Given the description of an element on the screen output the (x, y) to click on. 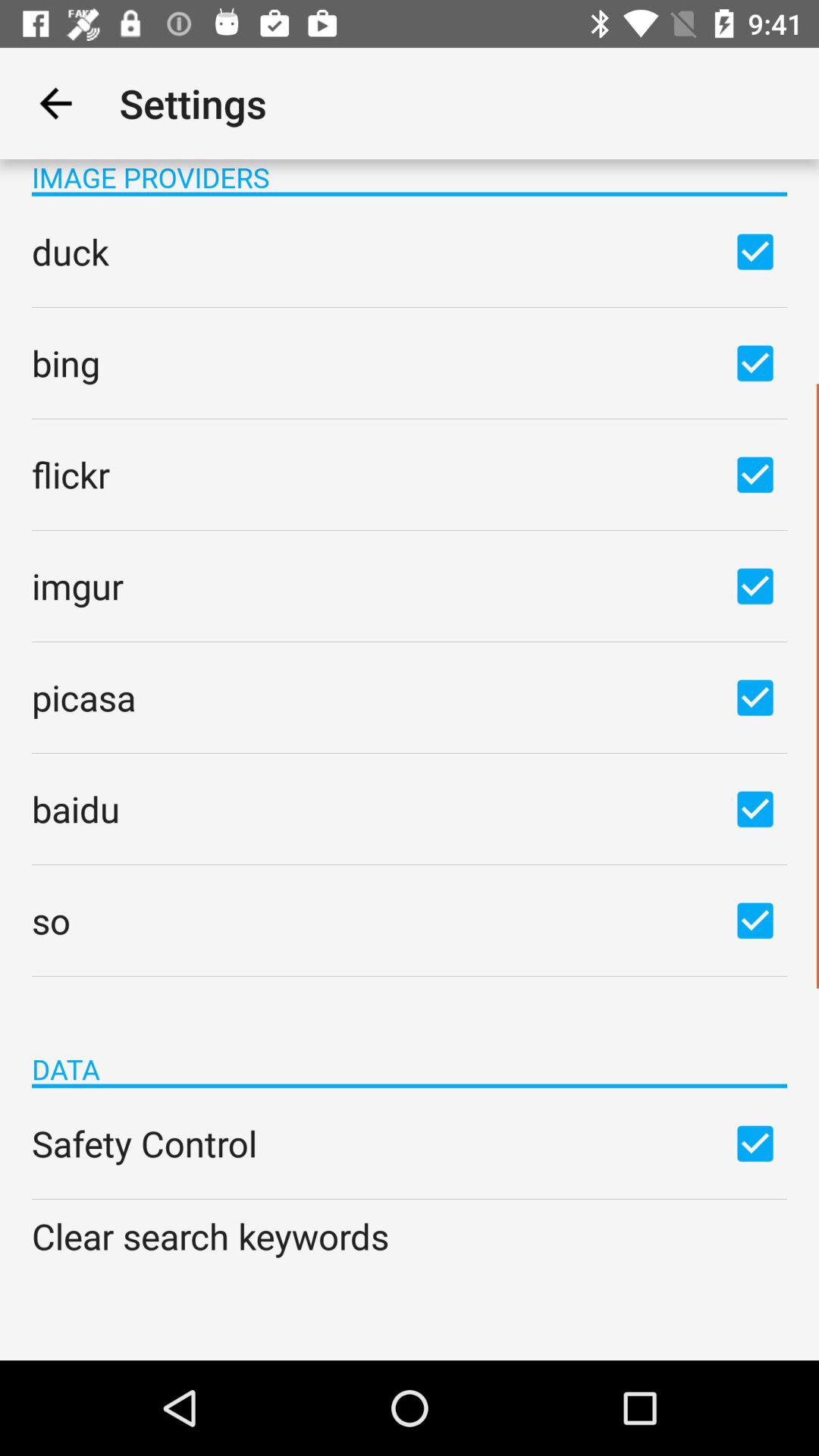
uncheck the box (755, 697)
